Given the description of an element on the screen output the (x, y) to click on. 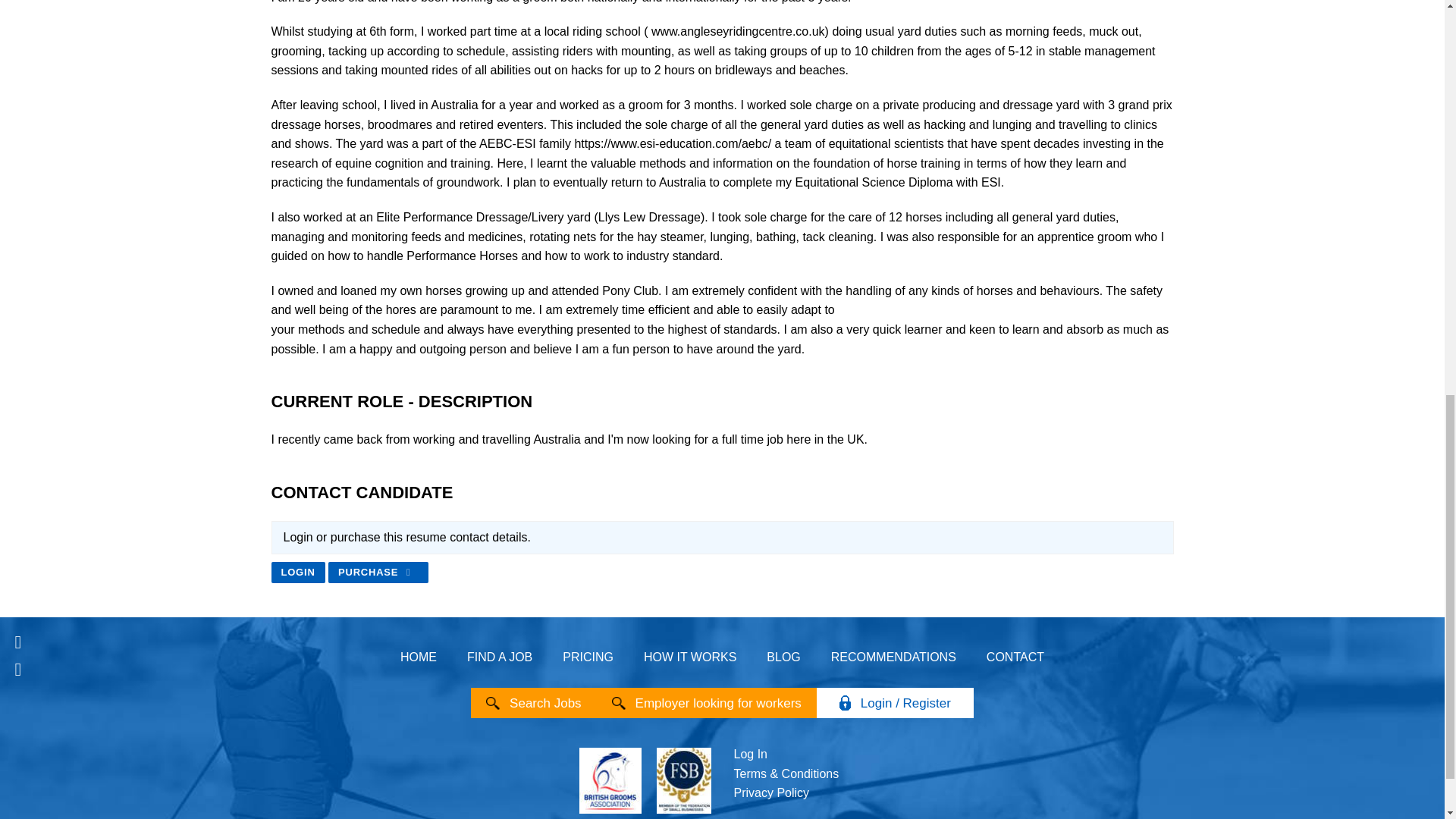
HOME (418, 656)
PURCHASE   (378, 572)
Privacy Policy (771, 792)
Search Jobs (544, 702)
FIND A JOB (499, 656)
BLOG (783, 656)
LOGIN (297, 572)
Employer looking for workers (718, 702)
RECOMMENDATIONS (893, 656)
Log In (750, 753)
HOW IT WORKS (689, 656)
PRICING (587, 656)
CONTACT (1015, 656)
